Given the description of an element on the screen output the (x, y) to click on. 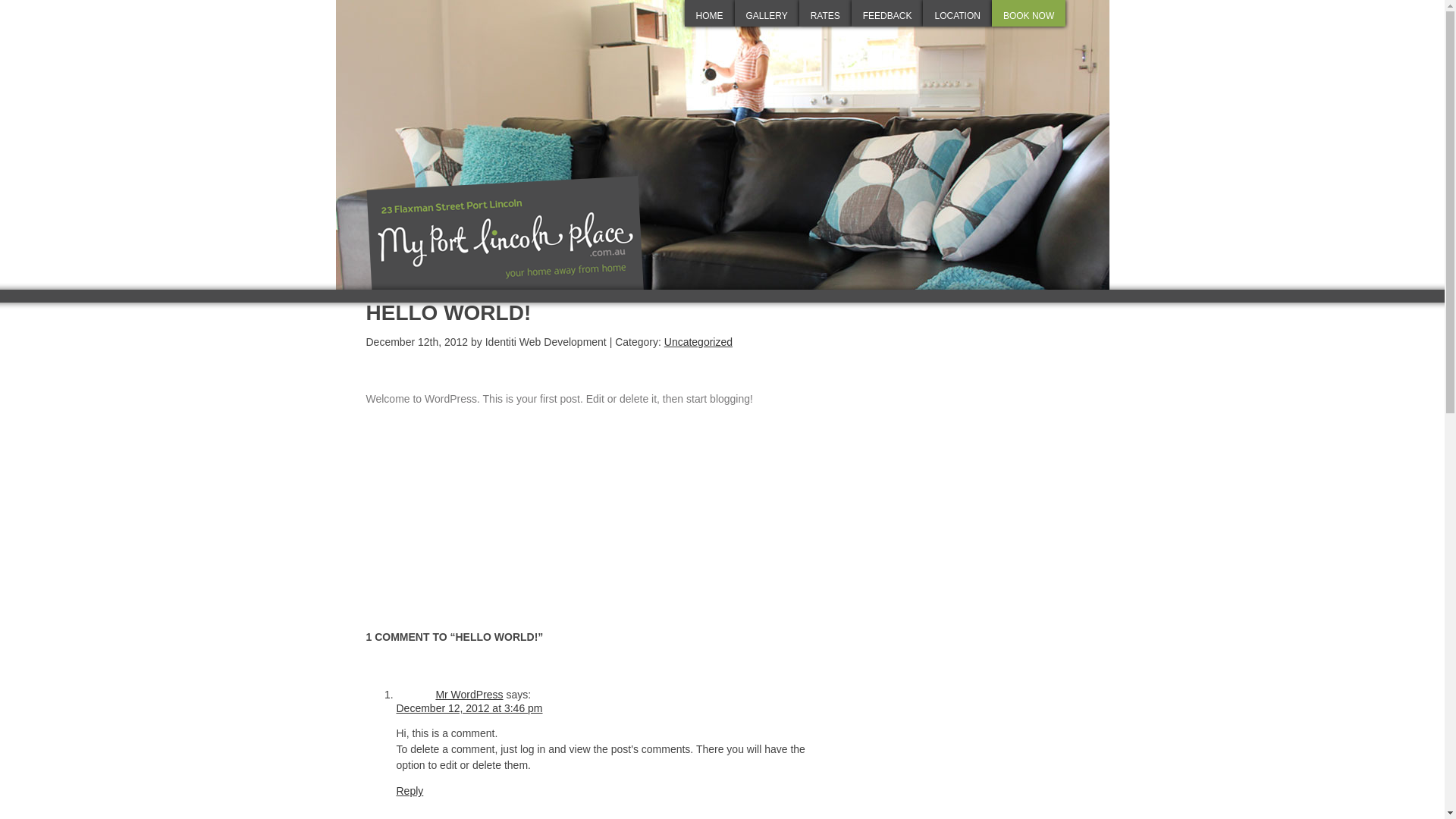
RATES Element type: text (825, 13)
GALLERY Element type: text (766, 13)
Reply Element type: text (409, 790)
HOME Element type: text (709, 13)
BOOK NOW Element type: text (1028, 13)
FEEDBACK Element type: text (887, 13)
Mr WordPress Element type: text (468, 694)
December 12, 2012 at 3:46 pm Element type: text (468, 708)
Uncategorized Element type: text (698, 341)
LOCATION Element type: text (956, 13)
